Given the description of an element on the screen output the (x, y) to click on. 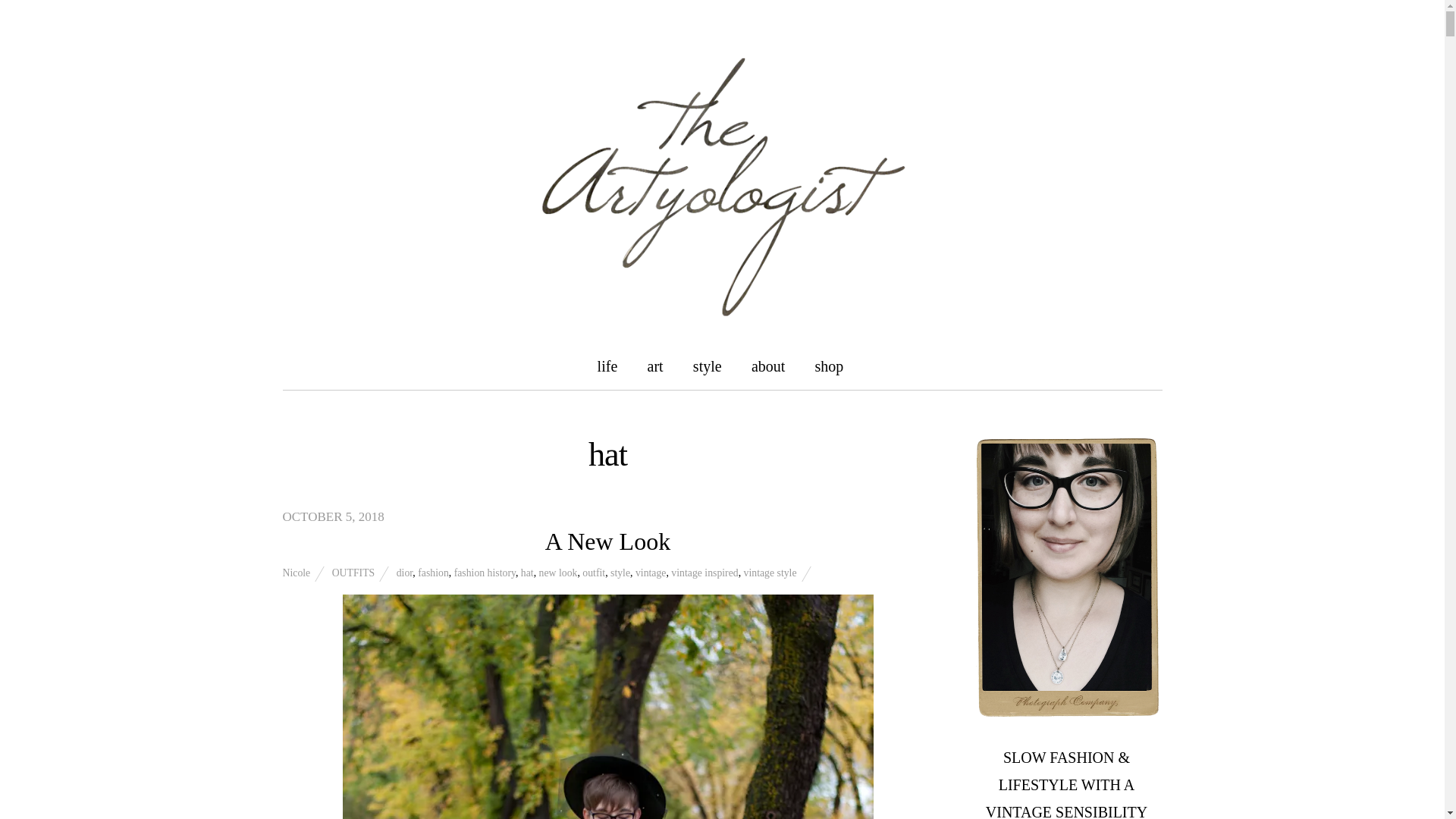
fashion (432, 572)
Posts by Nicole (296, 572)
about (767, 365)
style (620, 572)
art (655, 365)
fashion history (484, 572)
dior (404, 572)
vintage inspired (704, 572)
Nicole (296, 572)
shop (829, 365)
new look (558, 572)
style (707, 365)
vintage style (770, 572)
A New Look (606, 541)
